Given the description of an element on the screen output the (x, y) to click on. 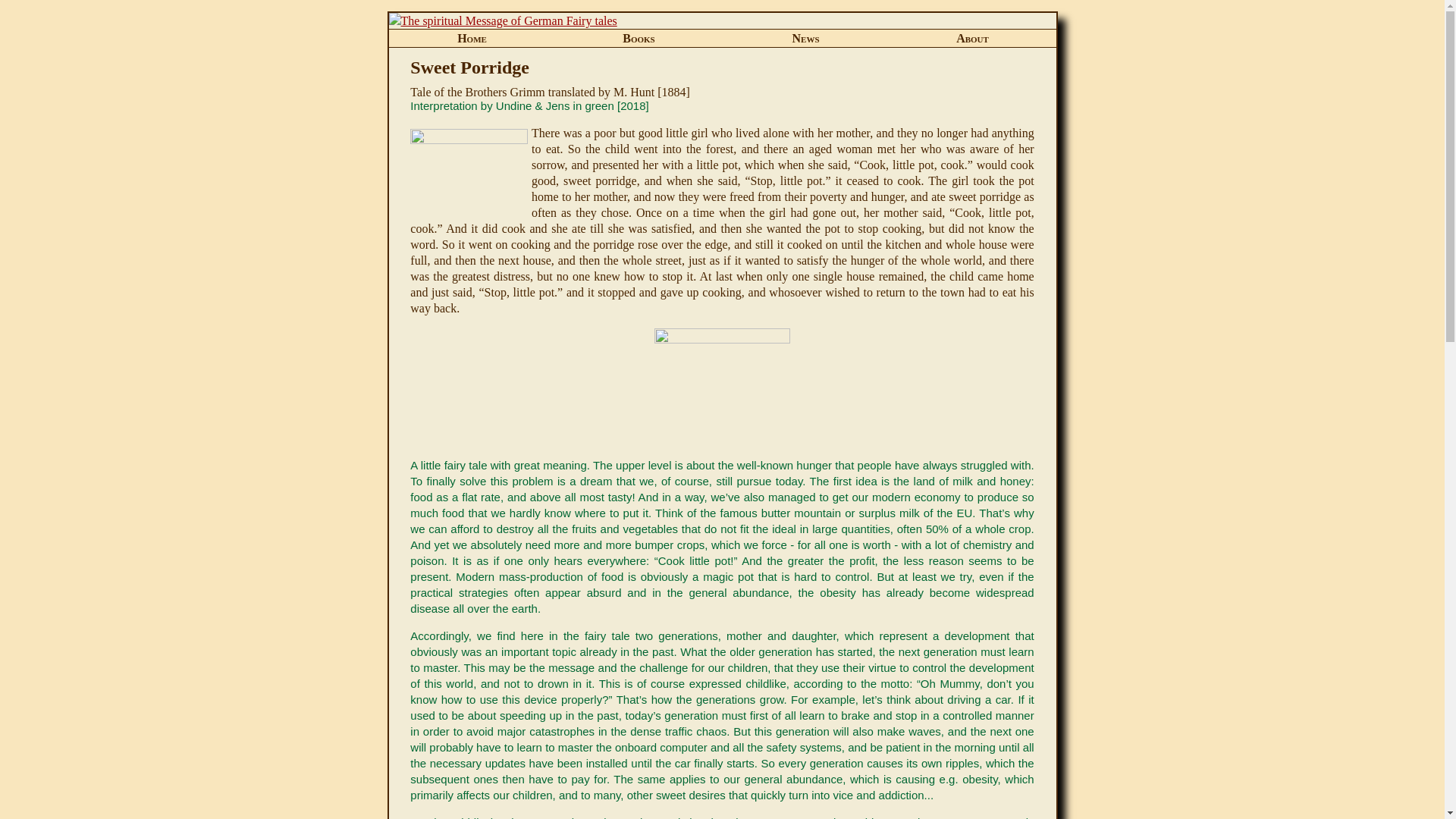
About (972, 37)
Books (639, 37)
News (805, 37)
Home (472, 37)
